Given the description of an element on the screen output the (x, y) to click on. 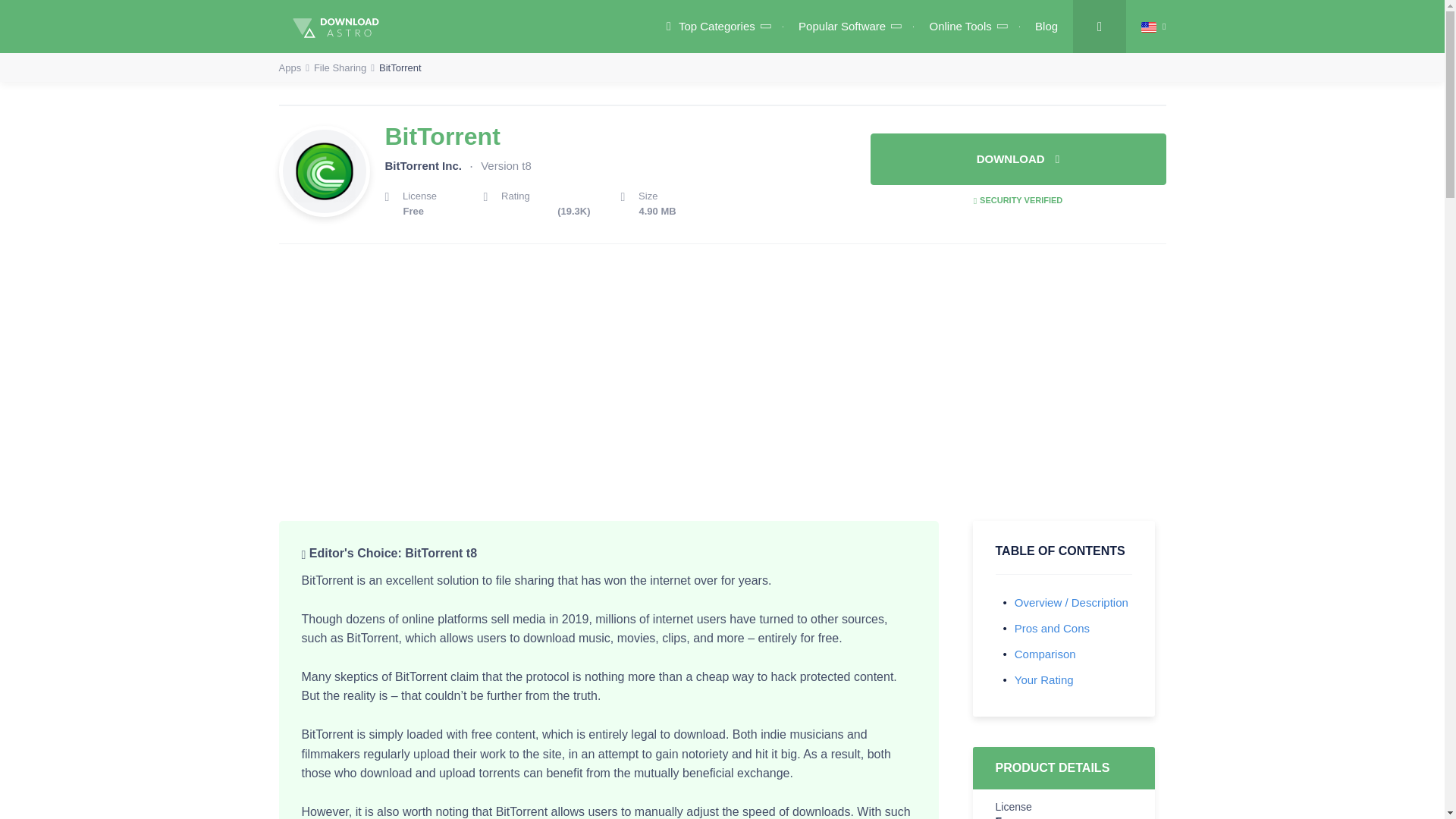
DownloadAstro (465, 26)
Popular Software (848, 26)
Top Categories (716, 26)
Top Categories (716, 26)
